Given the description of an element on the screen output the (x, y) to click on. 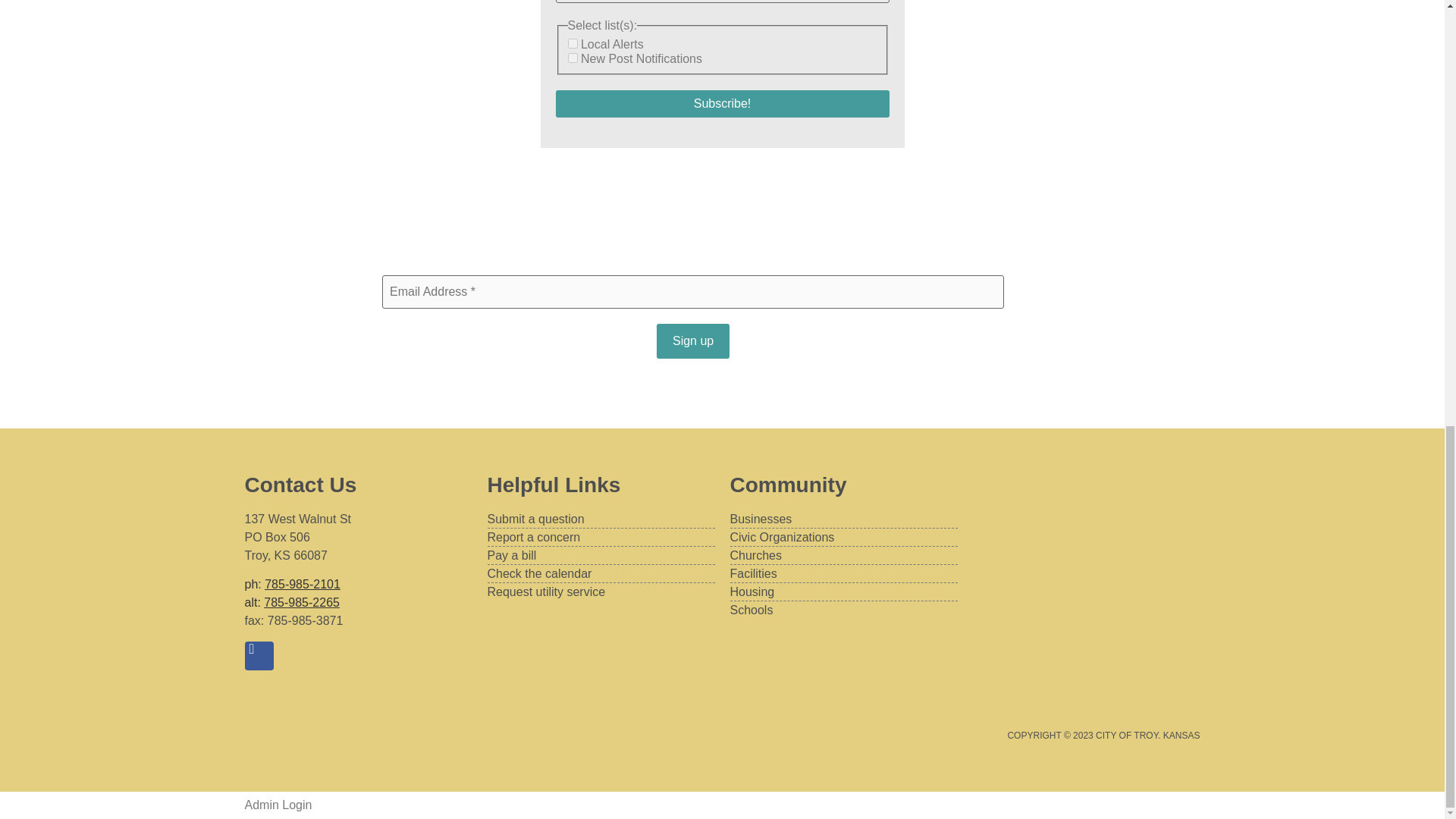
Sign up (692, 340)
3 (571, 58)
4 (571, 43)
Subscribe! (721, 103)
Email Address (692, 291)
